Given the description of an element on the screen output the (x, y) to click on. 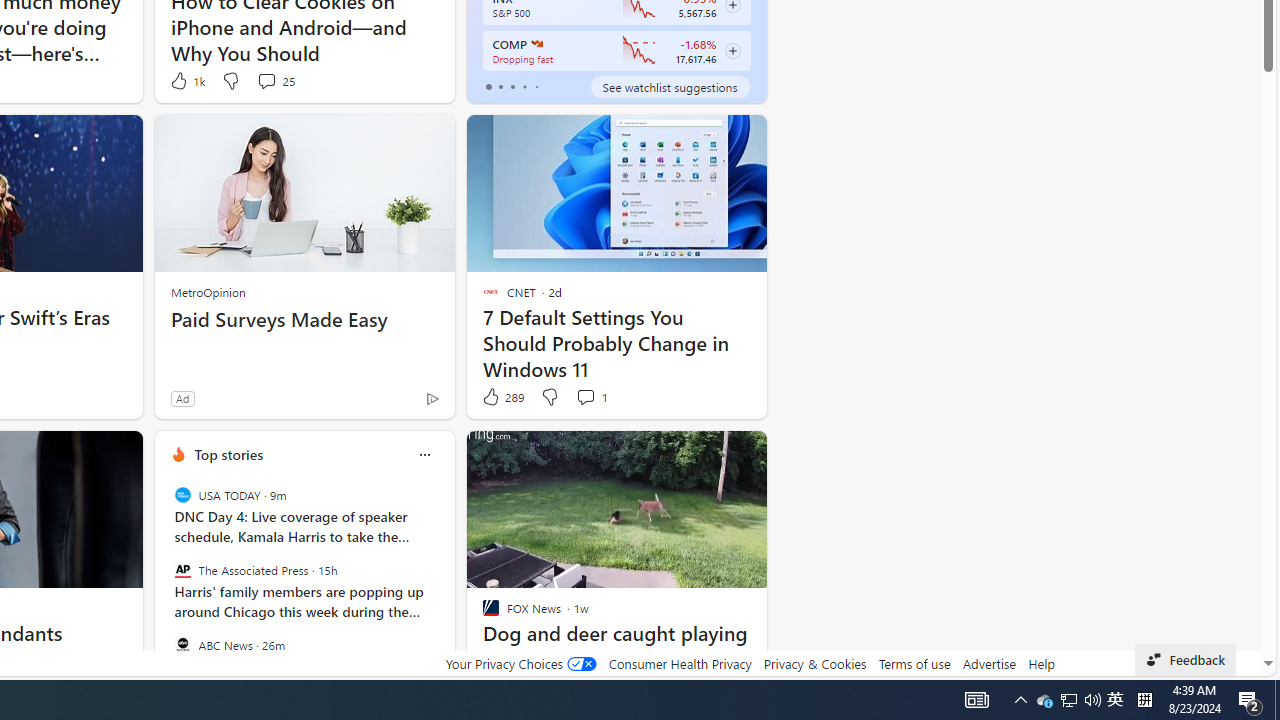
Paid Surveys Made Easy (304, 319)
See watchlist suggestions (669, 86)
Privacy & Cookies (814, 663)
1k Like (186, 80)
The Associated Press (182, 570)
Your Privacy Choices (520, 663)
